Given the description of an element on the screen output the (x, y) to click on. 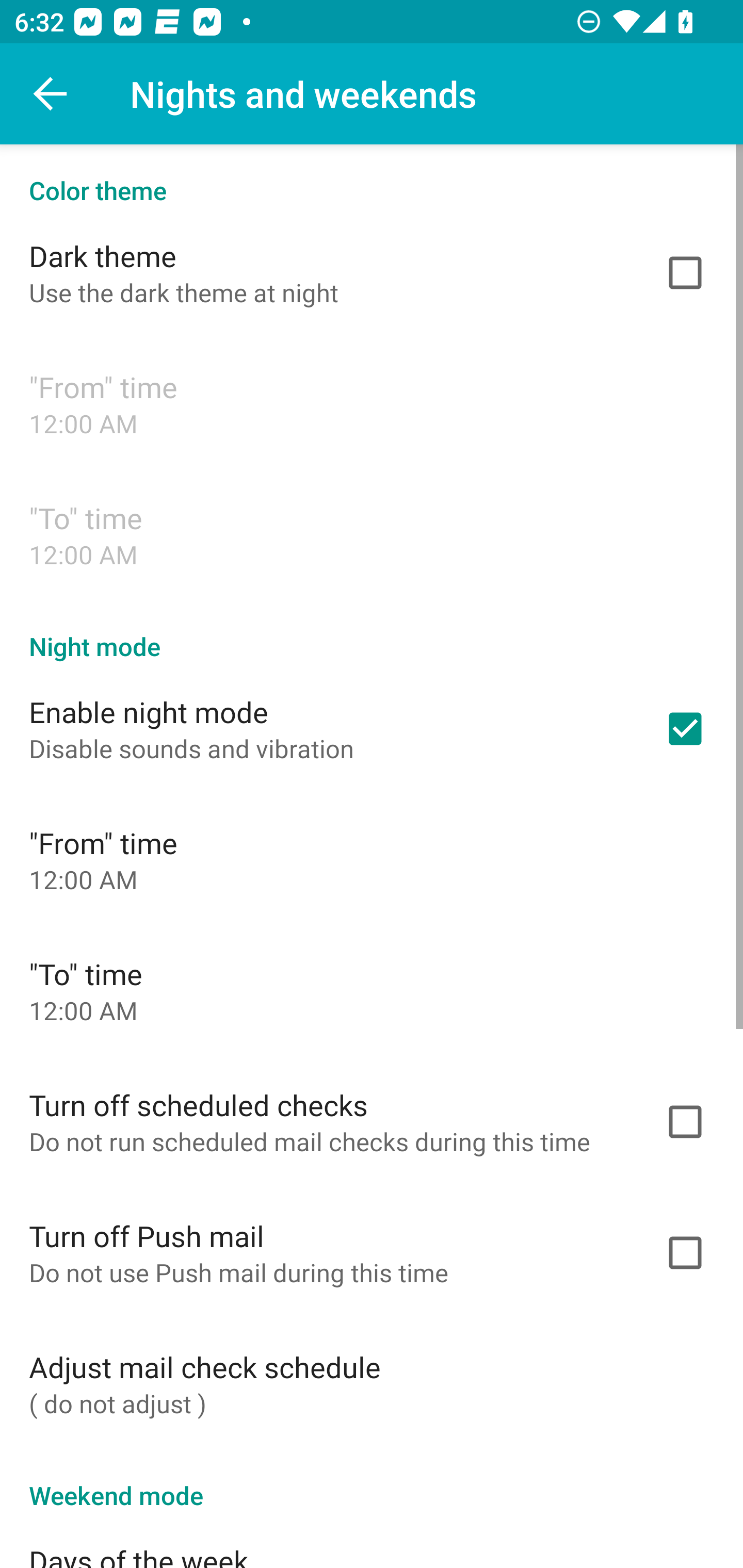
Navigate up (50, 93)
Dark theme Use the dark theme at night (371, 272)
"From" time 12:00 AM (371, 403)
"To" time 12:00 AM (371, 534)
Enable night mode Disable sounds and vibration (371, 728)
"From" time 12:00 AM (371, 859)
"To" time 12:00 AM (371, 990)
Adjust mail check schedule ( do not adjust ) (371, 1383)
